Given the description of an element on the screen output the (x, y) to click on. 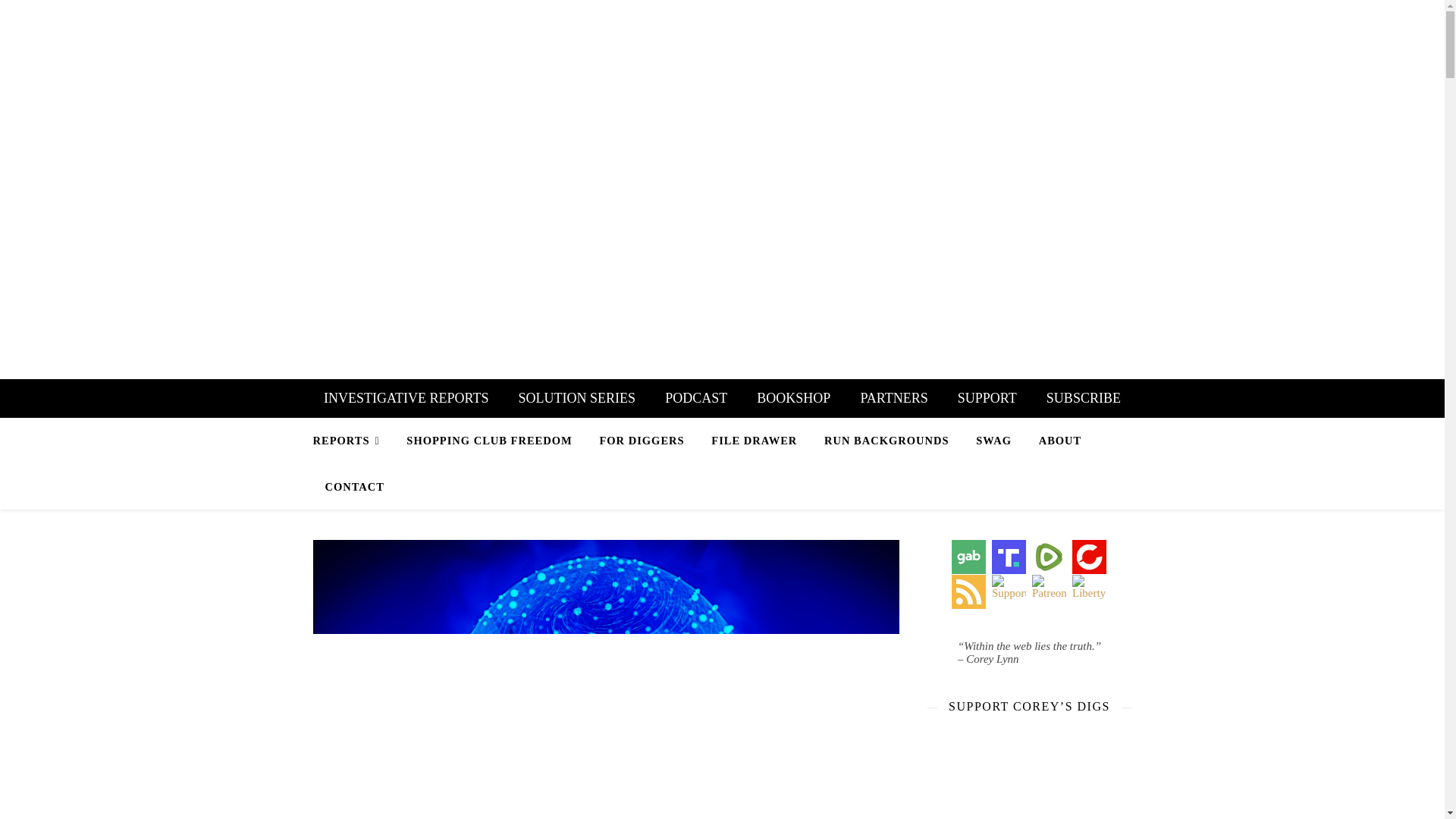
SOLUTION SERIES (576, 398)
SUPPORT (986, 398)
ABOUT (1060, 440)
SWAG (993, 440)
FILE DRAWER (753, 440)
PARTNERS (893, 398)
RUN BACKGROUNDS (886, 440)
INVESTIGATIVE REPORTS (406, 398)
BOOKSHOP (793, 398)
SUBSCRIBE (1083, 398)
FOR DIGGERS (640, 440)
SHOPPING CLUB FREEDOM (488, 440)
CONTACT (348, 486)
PODCAST (695, 398)
REPORTS (352, 440)
